Given the description of an element on the screen output the (x, y) to click on. 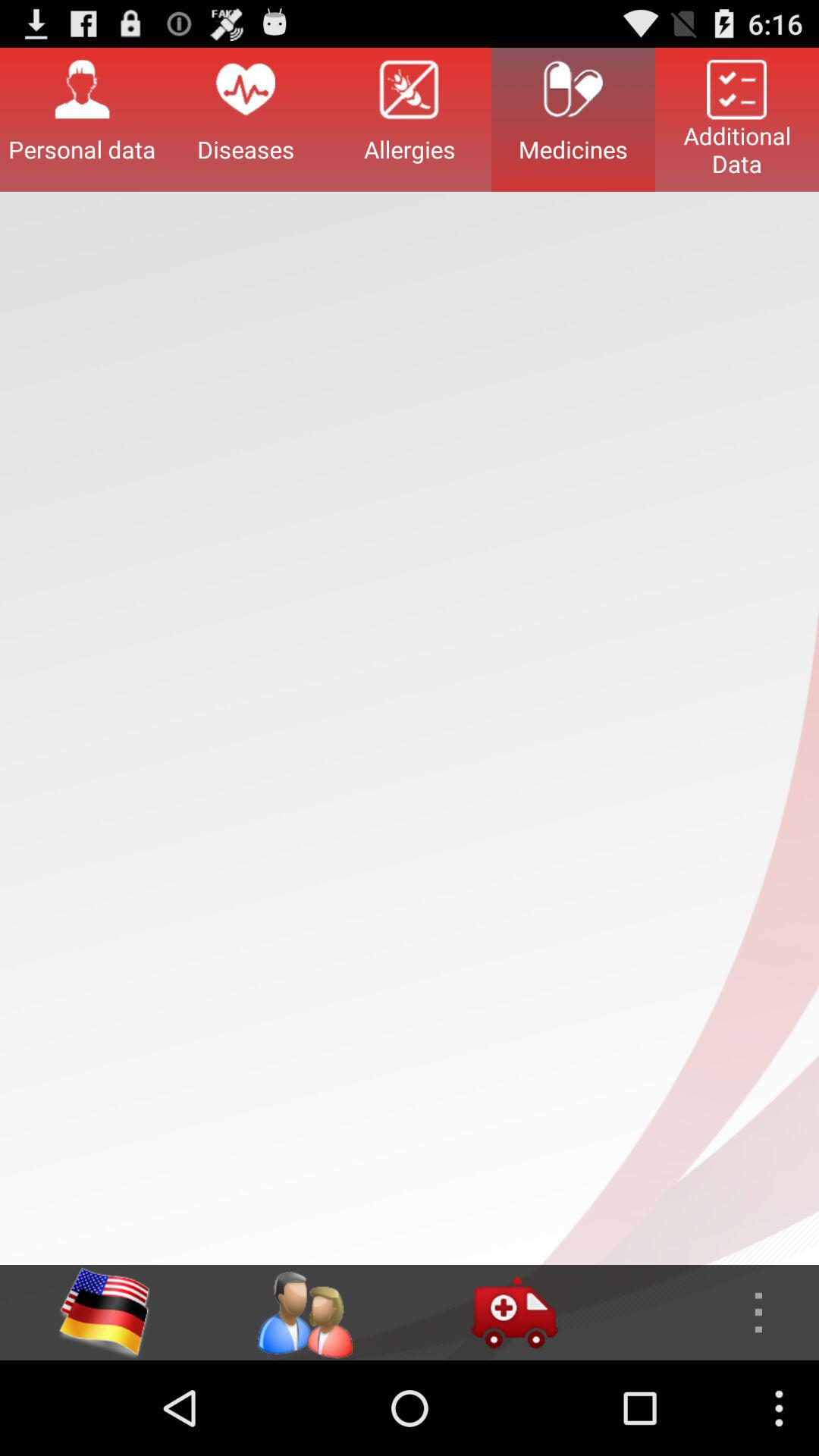
turn on the item below the allergies item (514, 1312)
